Given the description of an element on the screen output the (x, y) to click on. 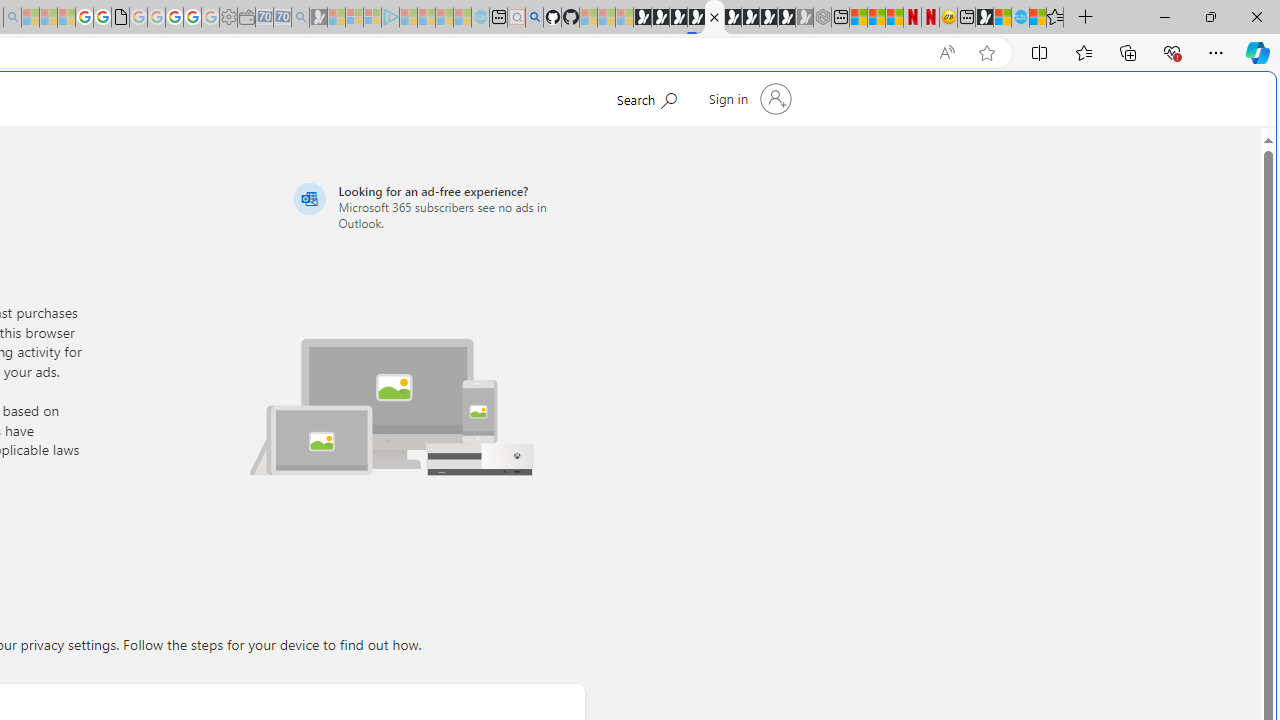
MSN (984, 17)
Settings - Sleeping (228, 17)
google_privacy_policy_zh-CN.pdf (120, 17)
Home | Sky Blue Bikes - Sky Blue Bikes - Sleeping (480, 17)
Tabs you've opened (276, 265)
